Given the description of an element on the screen output the (x, y) to click on. 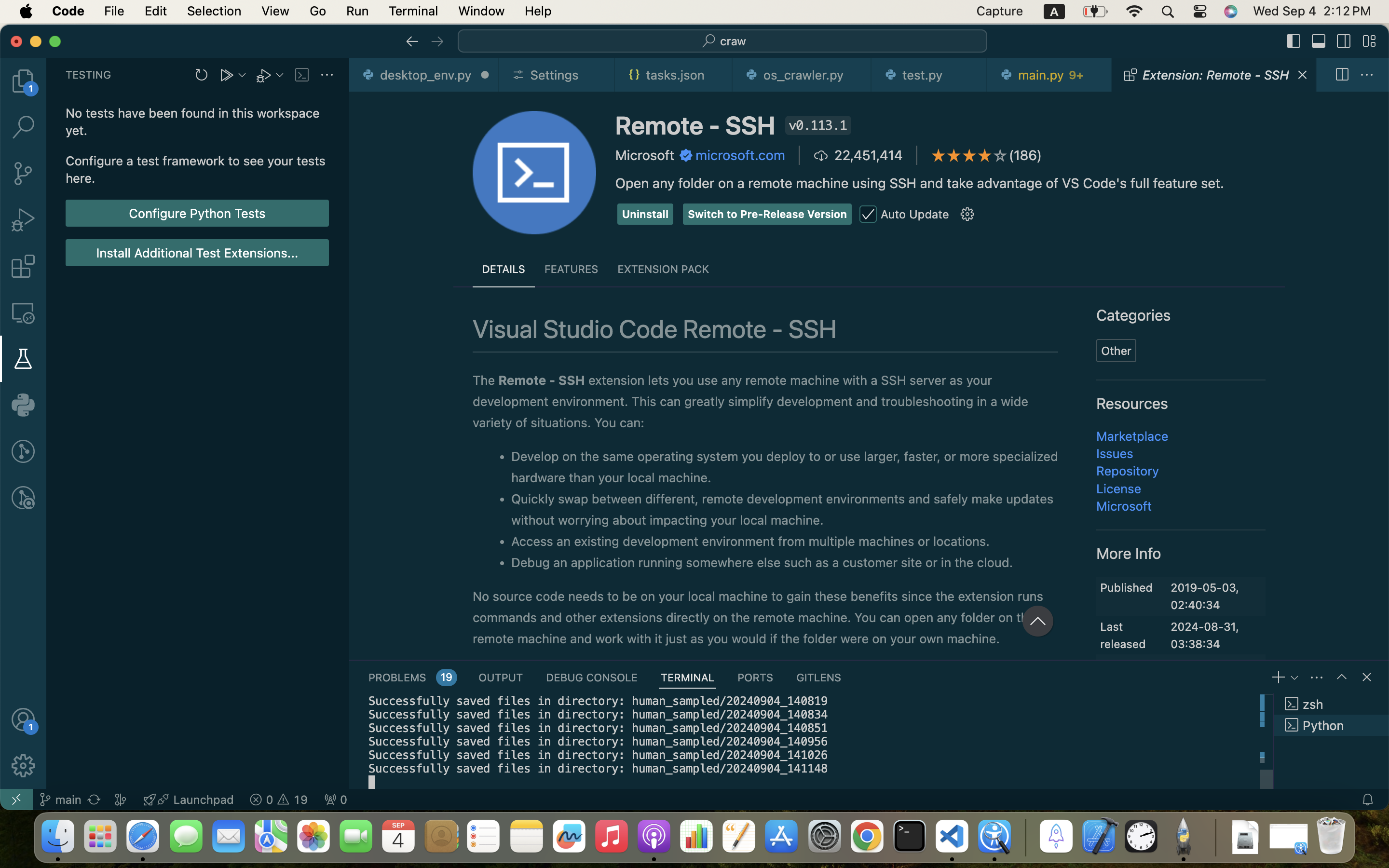
0 tasks.json   Element type: AXRadioButton (674, 74)
Other Element type: AXGroup (1116, 350)
Categories Element type: AXStaticText (1133, 315)
main  Element type: AXButton (59, 799)
0 PROBLEMS 19 Element type: AXRadioButton (411, 676)
